Given the description of an element on the screen output the (x, y) to click on. 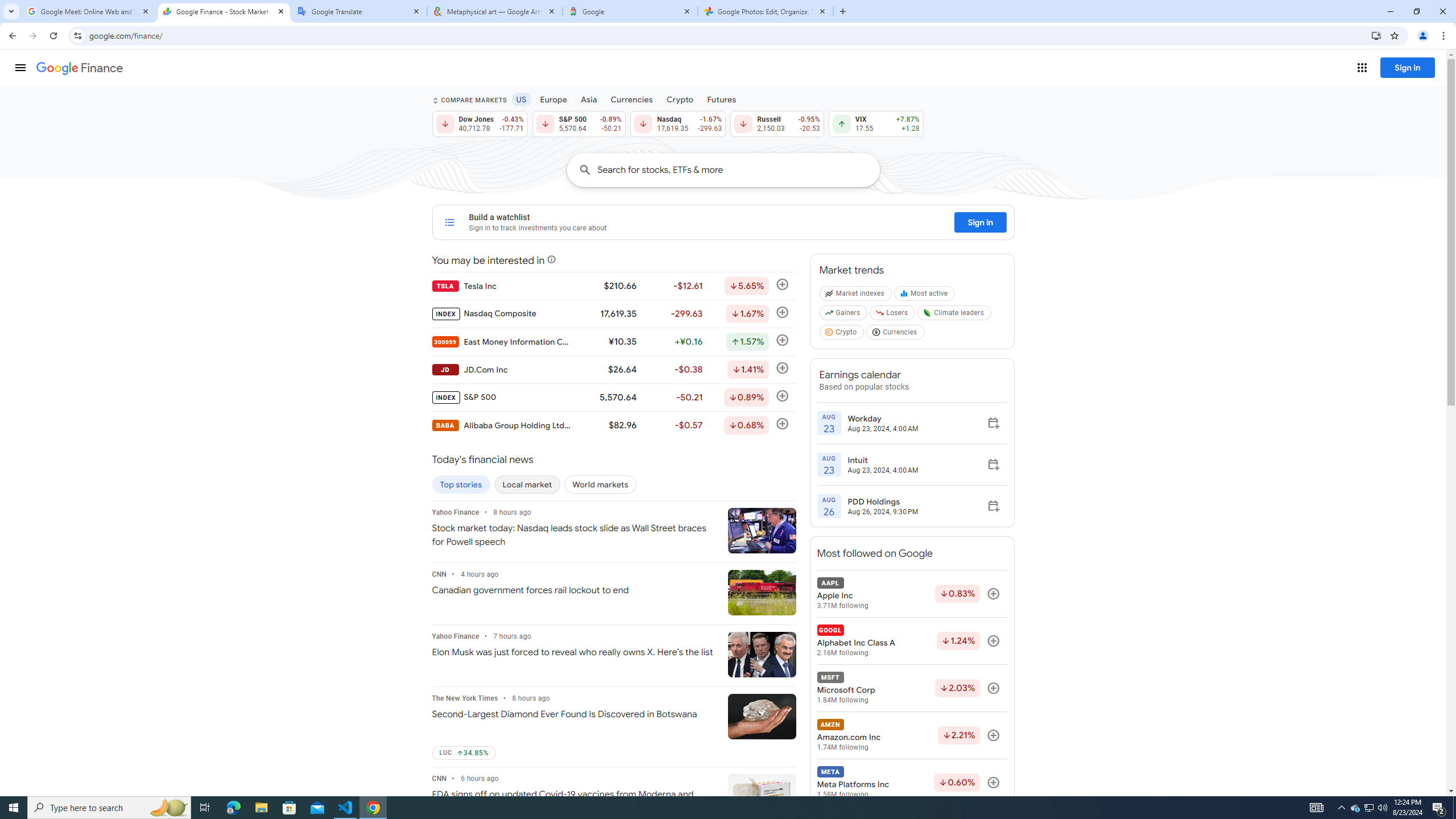
Dow Jones 40,712.78 Down by 0.43% -177.71 (478, 123)
Add to calendar (993, 506)
Google Translate (359, 11)
VIX 17.55 Up by 7.87% +1.28 (875, 123)
Workday (882, 418)
Intuit (882, 460)
Russell 2,150.03 Down by 0.95% -20.53 (777, 123)
Search for stocks, ETFs & more (737, 169)
Local market (526, 484)
GLeaf logo (927, 312)
S&P 500 5,570.64 Down by 0.89% -50.21 (578, 123)
Nasdaq 17,619.35 Down by 1.67% -299.63 (678, 123)
